Given the description of an element on the screen output the (x, y) to click on. 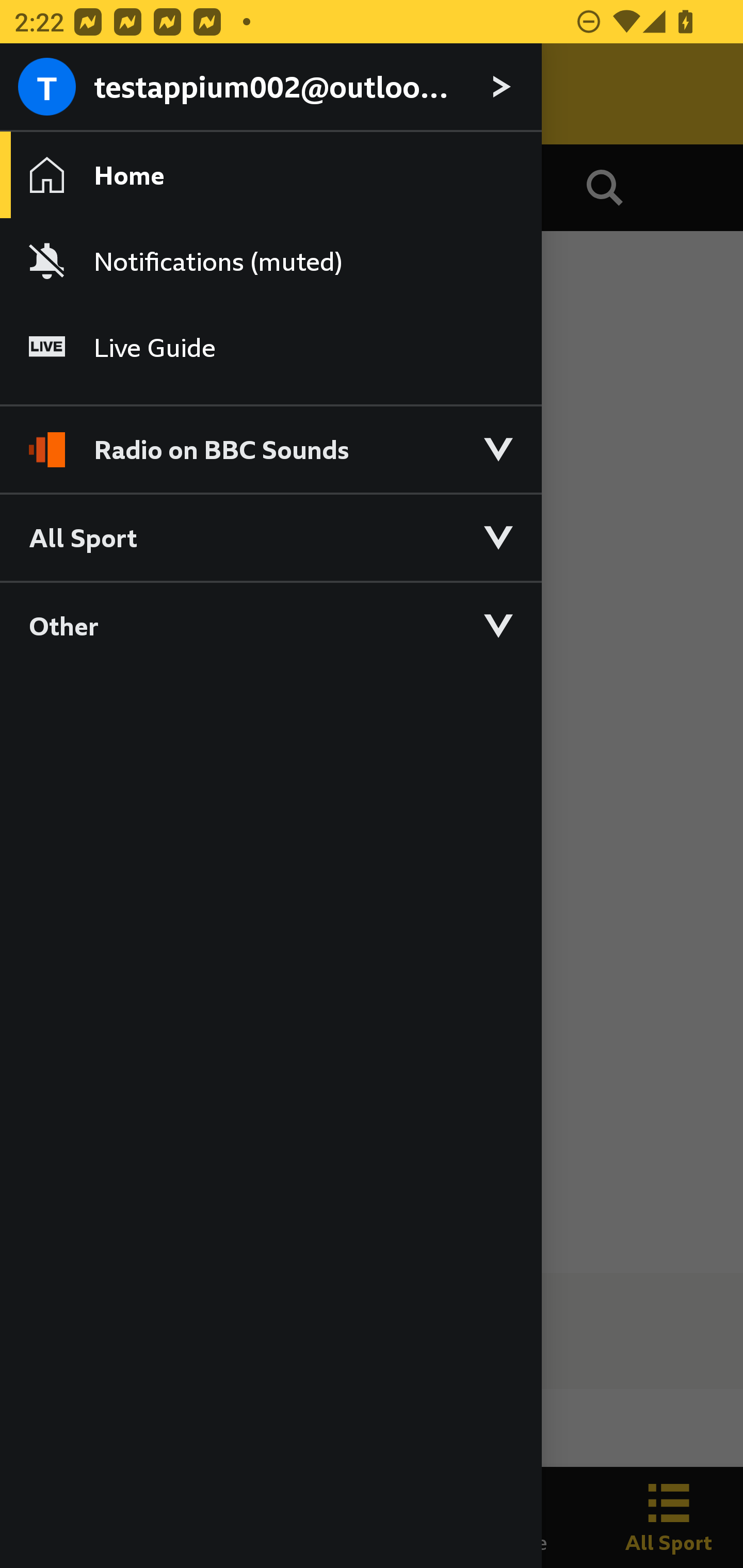
Close Menu (50, 93)
testappium002@outlook.com (270, 87)
Home (270, 174)
Notifications (muted) (270, 260)
Live Guide (270, 347)
Radio on BBC Sounds (270, 441)
All Sport (270, 536)
Other (270, 624)
